Given the description of an element on the screen output the (x, y) to click on. 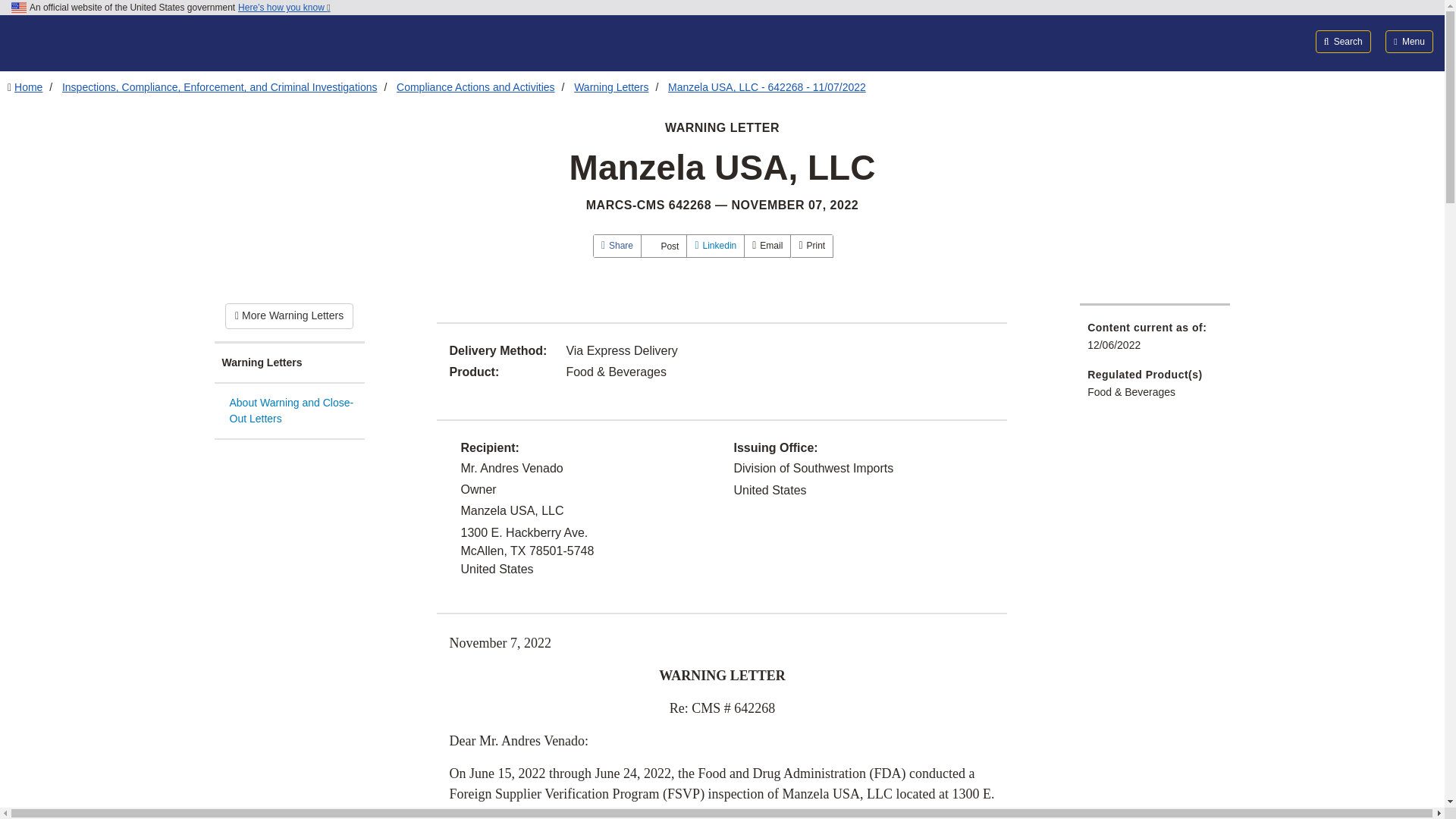
Print this page (811, 245)
  Search (1343, 41)
  Menu (1409, 41)
Warning Letters (289, 363)
